Given the description of an element on the screen output the (x, y) to click on. 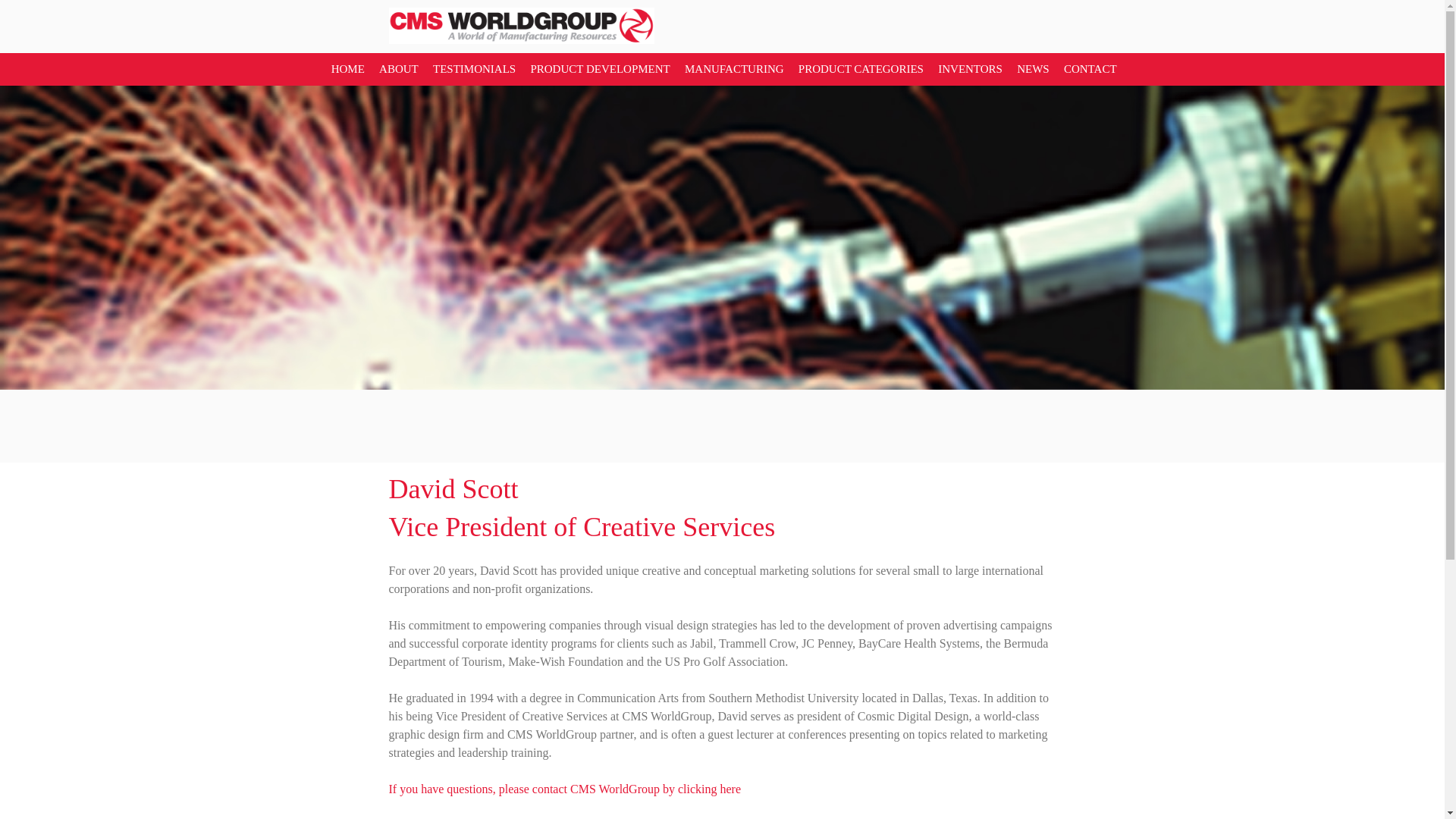
INVENTORS (968, 69)
MANUFACTURING (732, 69)
home (520, 39)
PRODUCT CATEGORIES (859, 69)
HOME (346, 69)
TESTIMONIALS (472, 69)
PRODUCT DEVELOPMENT (598, 69)
ABOUT (396, 69)
